Given the description of an element on the screen output the (x, y) to click on. 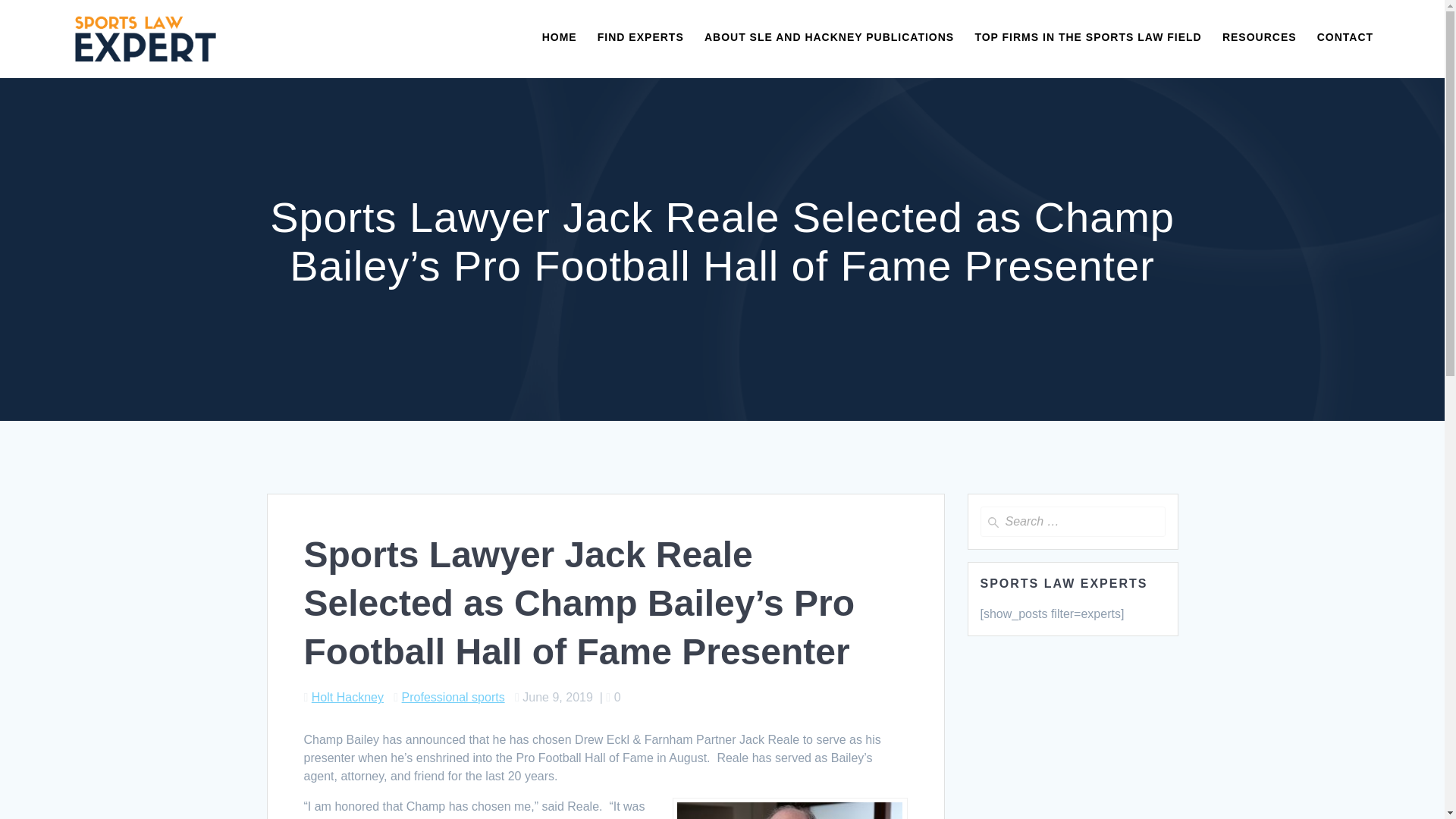
Professional sports (453, 697)
Posts by Holt Hackney (347, 697)
CONTACT (1345, 37)
RESOURCES (1260, 37)
FIND EXPERTS (640, 37)
TOP FIRMS IN THE SPORTS LAW FIELD (1087, 37)
ABOUT SLE AND HACKNEY PUBLICATIONS (828, 37)
HOME (558, 37)
Holt Hackney (347, 697)
